Given the description of an element on the screen output the (x, y) to click on. 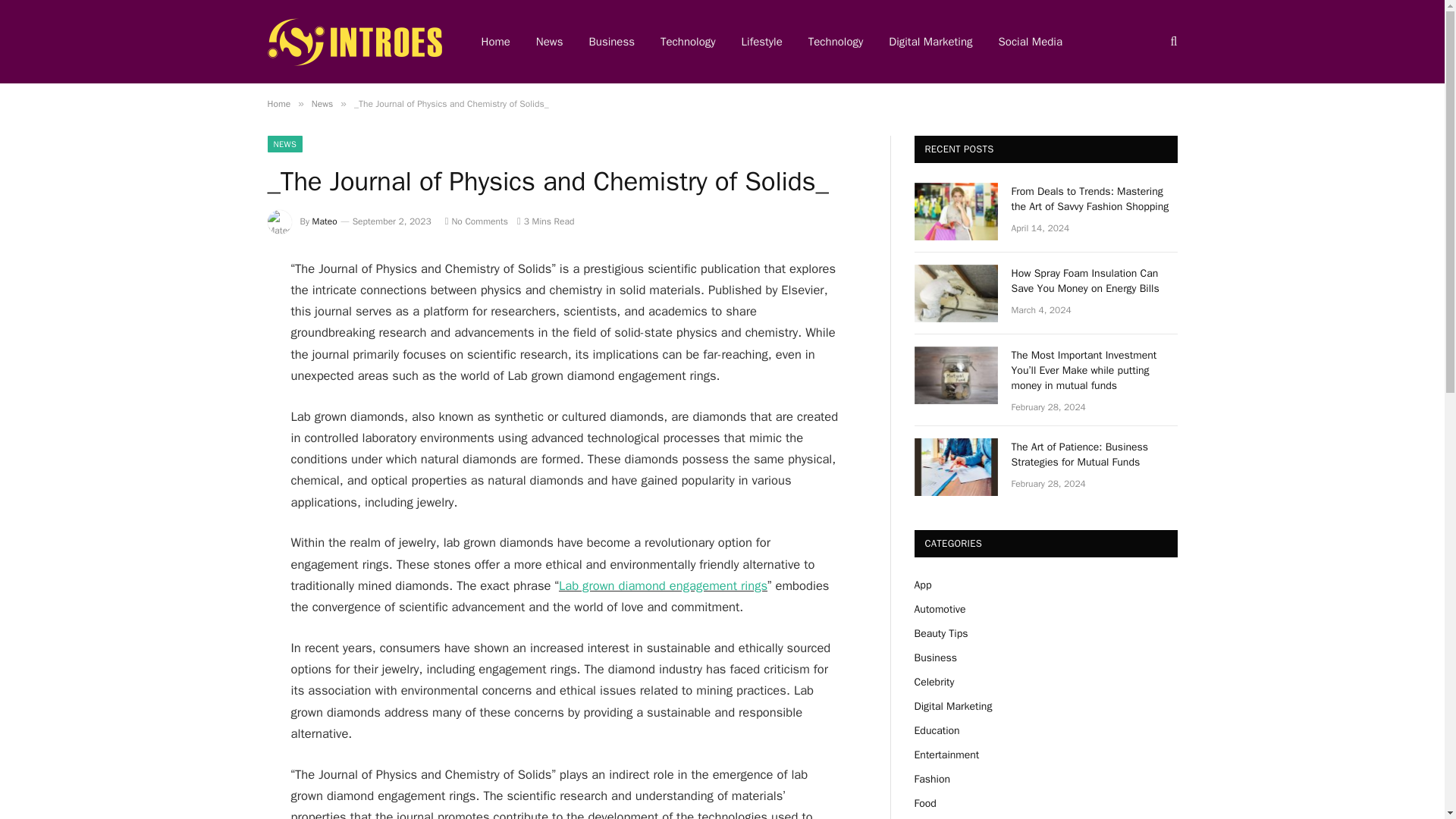
introes.com (353, 41)
NEWS (284, 143)
Technology (835, 41)
Business (611, 41)
Business (935, 657)
News (549, 41)
Automotive (940, 608)
How Spray Foam Insulation Can Save You Money on Energy Bills (955, 293)
No Comments (476, 221)
Digital Marketing (930, 41)
Beauty Tips (941, 633)
Mateo (325, 221)
Home (495, 41)
The Art of Patience: Business Strategies for Mutual Funds (955, 467)
